Given the description of an element on the screen output the (x, y) to click on. 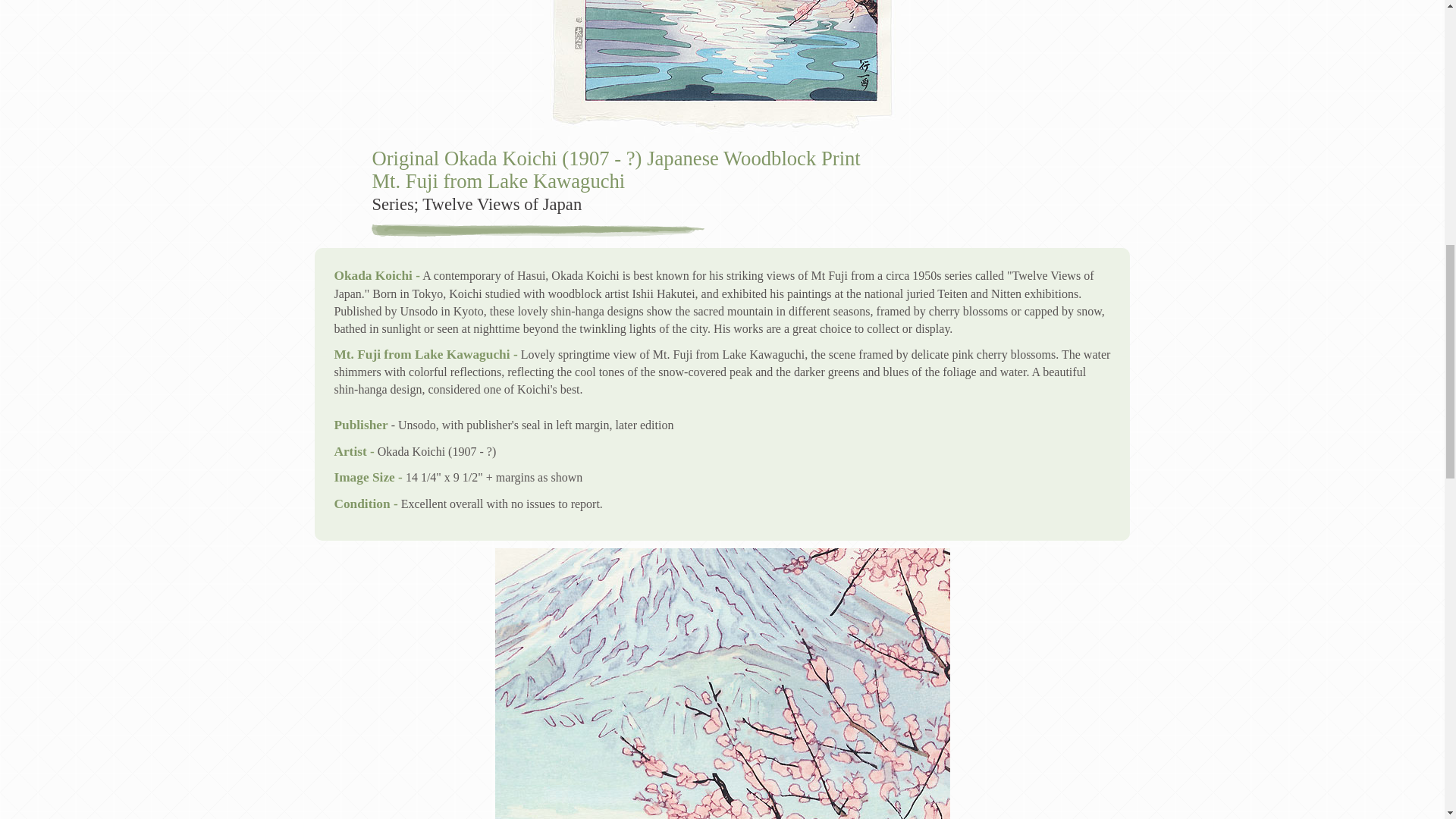
Series; Twelve Views of Japan (475, 203)
